Given the description of an element on the screen output the (x, y) to click on. 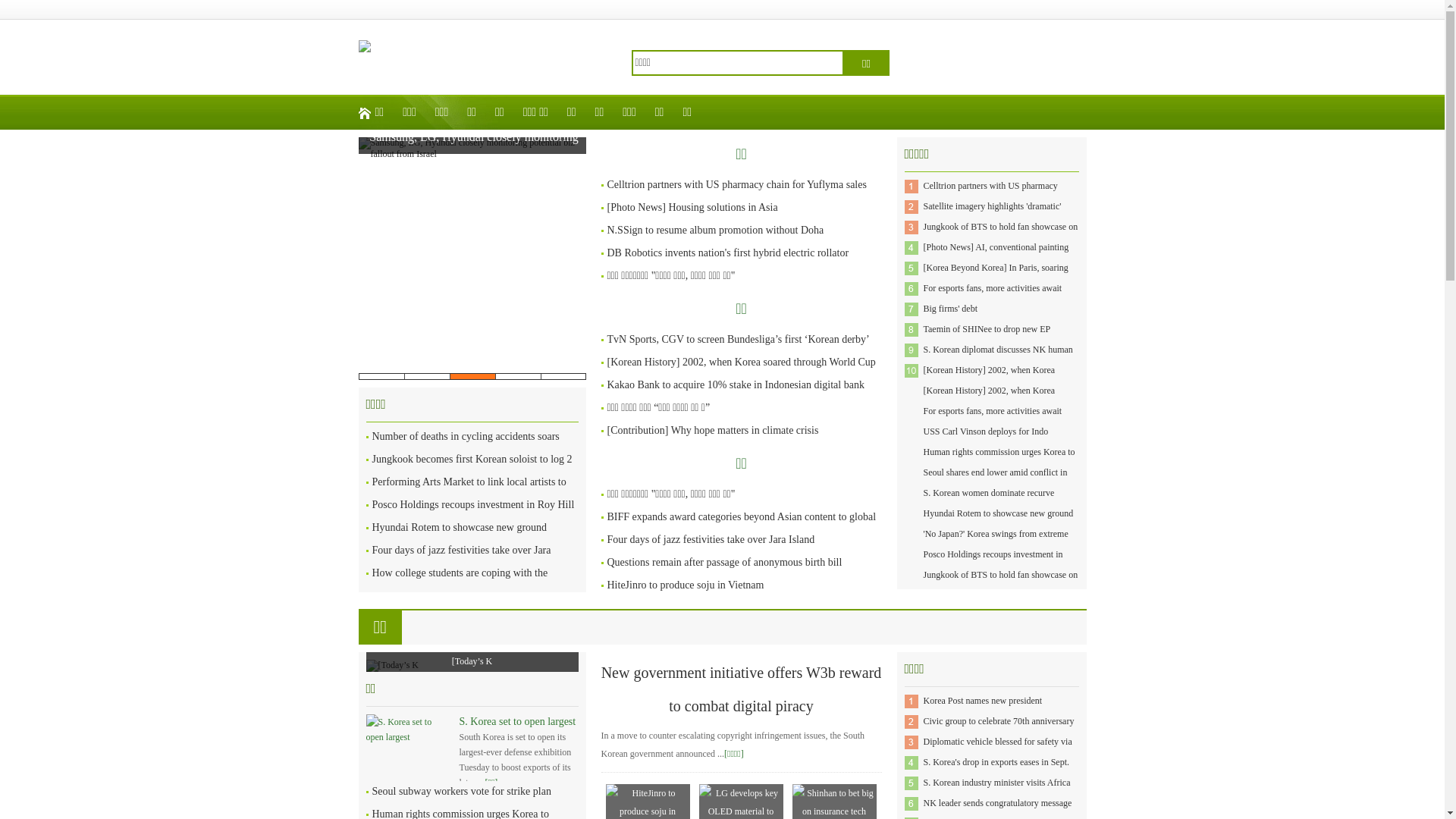
How college students are coping with the impact of inflation Element type: text (459, 583)
S. Korean women dominate recurve archery at Asian Games Element type: text (988, 502)
[Photo News] Housing solutions in Asia Element type: text (691, 207)
[Korean History] 2002, when Korea soared through World Cup Element type: text (740, 361)
Questions remain after passage of anonymous birth bill Element type: text (723, 561)
[Photo News] AI, conventional painting come together Element type: text (996, 257)
HiteJinro to produce soju in Vietnam Element type: text (684, 584)
[Korean History] 2002, when Korea soared through World Cup Element type: text (989, 400)
Kakao Bank to acquire 10% stake in Indonesian digital bank Element type: text (734, 384)
Jungkook of BTS to hold fan showcase on Nov. 20 Element type: text (1000, 236)
Four days of jazz festivities take over Jara Island Element type: text (460, 560)
Human rights commission urges Korea to abolish death penalty Element type: text (999, 461)
Big firms' debt Element type: text (950, 308)
Jungkook of BTS to hold fan showcase on Nov. 20 Element type: text (1000, 584)
Performing Arts Market to link local artists to world Element type: text (468, 492)
For esports fans, more activities await beyond LoL matches Element type: text (992, 420)
Celltrion partners with US pharmacy chain for Yuflyma sales Element type: text (736, 184)
[Korean History] 2002, when Korea soared through World Cup Element type: text (989, 379)
S. Korean diplomat discusses NK human rights with US envoy Element type: text (998, 359)
Posco Holdings recoups investment in Roy Hill after 13 years Element type: text (993, 564)
Posco Holdings recoups investment in Roy Hill after 13 years Element type: text (472, 514)
Taemin of SHINee to drop new EP 'Guilty' on Oct. 30 Element type: text (986, 338)
S. Korea set to open largest Element type: text (517, 721)
N.SSign to resume album promotion without Doha Element type: text (714, 229)
Civic group to celebrate 70th anniversary of S. Korea Element type: text (998, 730)
Korea Post names new president Element type: text (982, 700)
Number of deaths in cycling accidents soars Element type: text (464, 436)
[Contribution] Why hope matters in climate crisis Element type: text (712, 430)
Satellite imagery highlights 'dramatic' increase in N. Korea Element type: text (992, 216)
Celltrion partners with US pharmacy chain for Yuflyma sales Element type: text (990, 195)
Four days of jazz festivities take over Jara Island Element type: text (710, 539)
For esports fans, more activities await beyond LoL matches Element type: text (992, 297)
USS Carl Vinson deploys for Indo Element type: text (985, 431)
DB Robotics invents nation's first hybrid electric rollator Element type: text (727, 252)
Seoul shares end lower amid conflict in Middle East Element type: text (995, 482)
Seoul subway workers vote for strike plan Element type: text (460, 791)
